Given the description of an element on the screen output the (x, y) to click on. 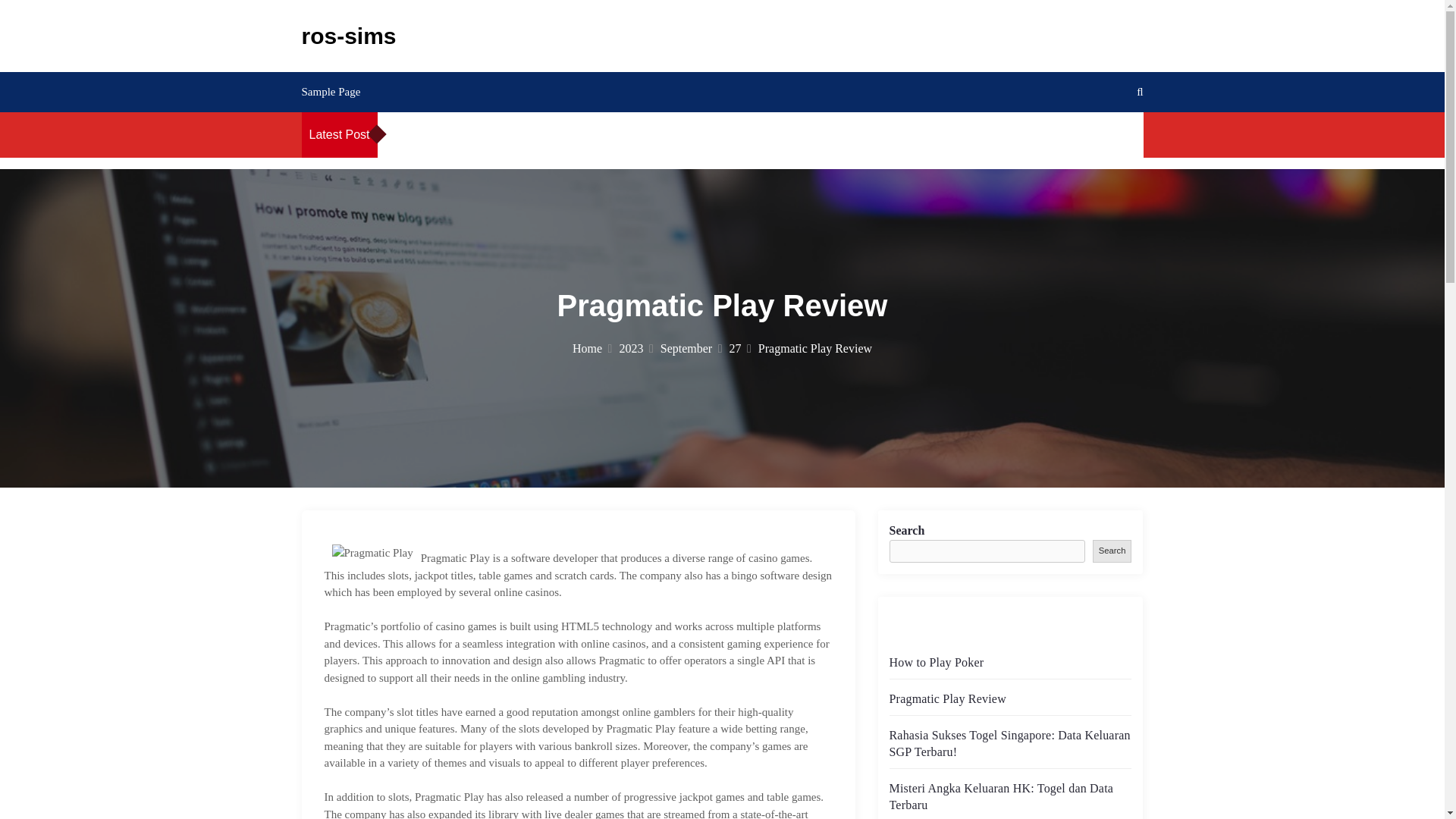
27 (740, 348)
How to Play Poker (936, 662)
2023 (635, 348)
How to Play Poker (481, 134)
How to Play Poker (720, 134)
Pragmatic Play Review (594, 134)
Pragmatic Play Review (947, 698)
September (691, 348)
Pragmatic Play Review (834, 134)
Search (1112, 551)
Misteri Angka Keluaran HK: Togel dan Data Terbaru (1000, 796)
ros-sims (348, 35)
Rahasia Sukses Togel Singapore: Data Keluaran SGP Terbaru! (1008, 743)
Sample Page (331, 91)
Home (591, 348)
